Given the description of an element on the screen output the (x, y) to click on. 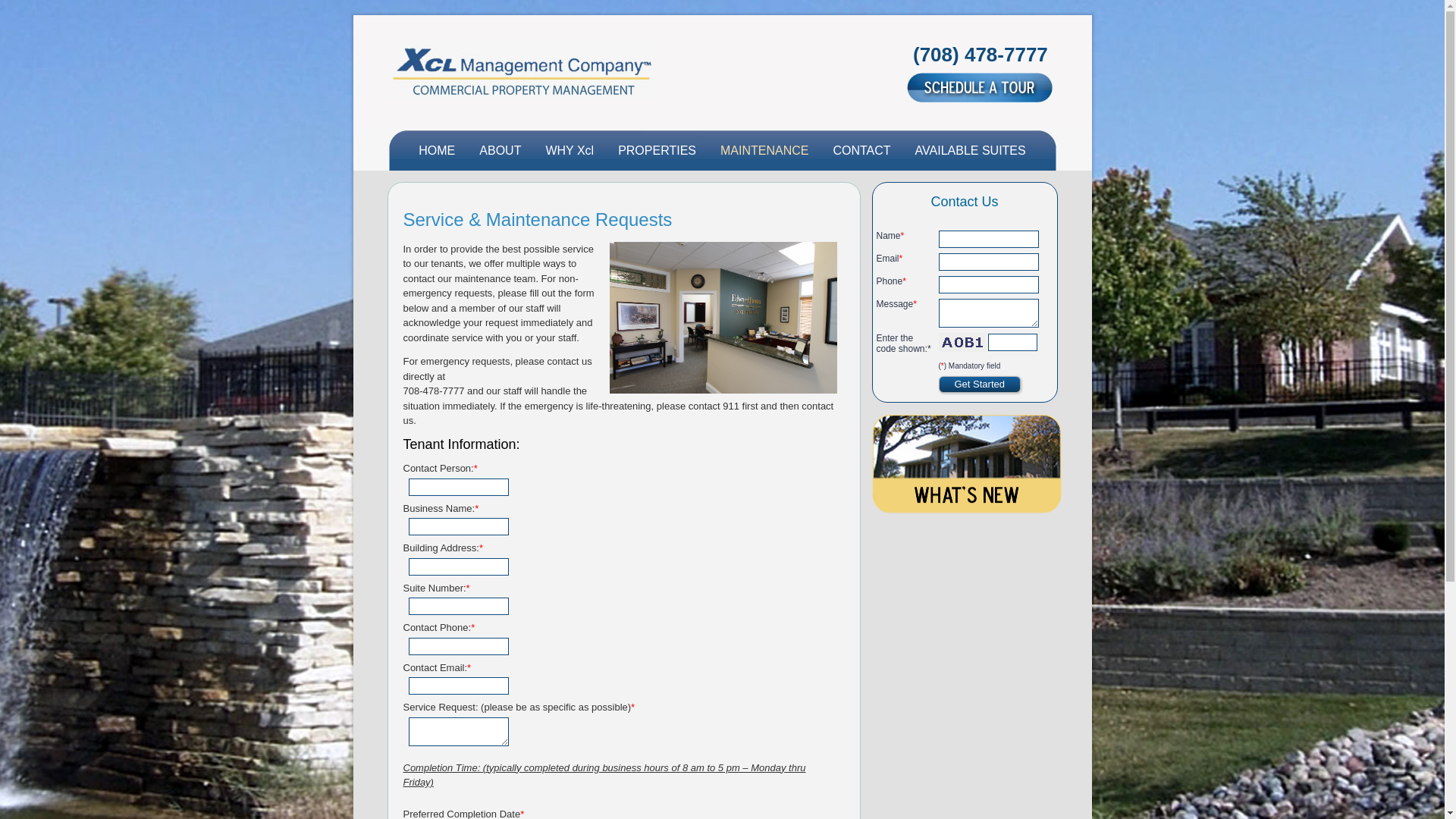
ABOUT (499, 150)
AVAILABLE SUITES (970, 150)
PROPERTIES (657, 150)
CONTACT (861, 150)
WHY Xcl (569, 150)
MAINTENANCE (764, 150)
Get Started (979, 384)
Get Started (979, 384)
HOME (436, 150)
